Given the description of an element on the screen output the (x, y) to click on. 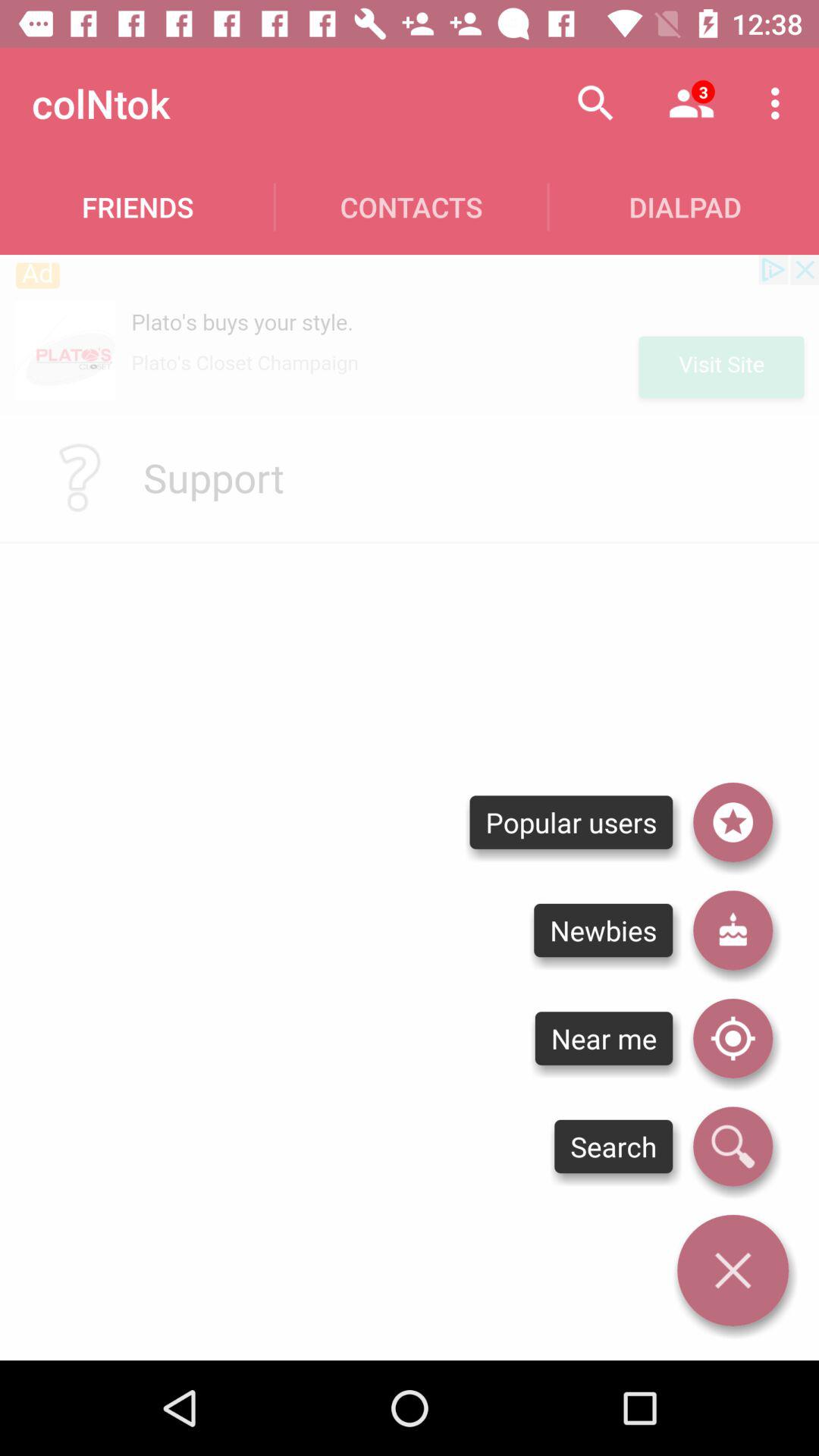
choose the item next to the popular users item (733, 930)
